Given the description of an element on the screen output the (x, y) to click on. 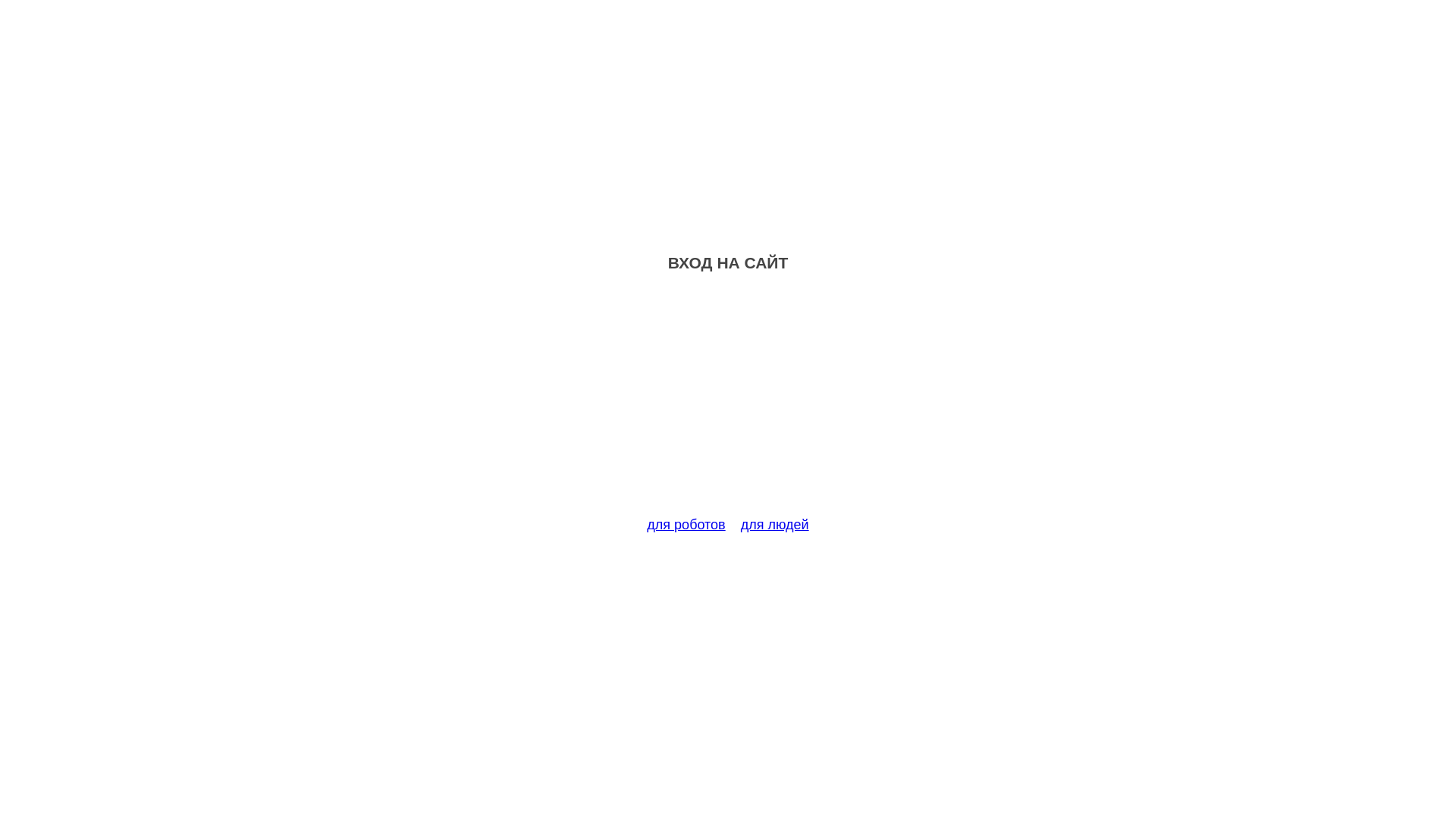
Advertisement Element type: hover (727, 403)
